Given the description of an element on the screen output the (x, y) to click on. 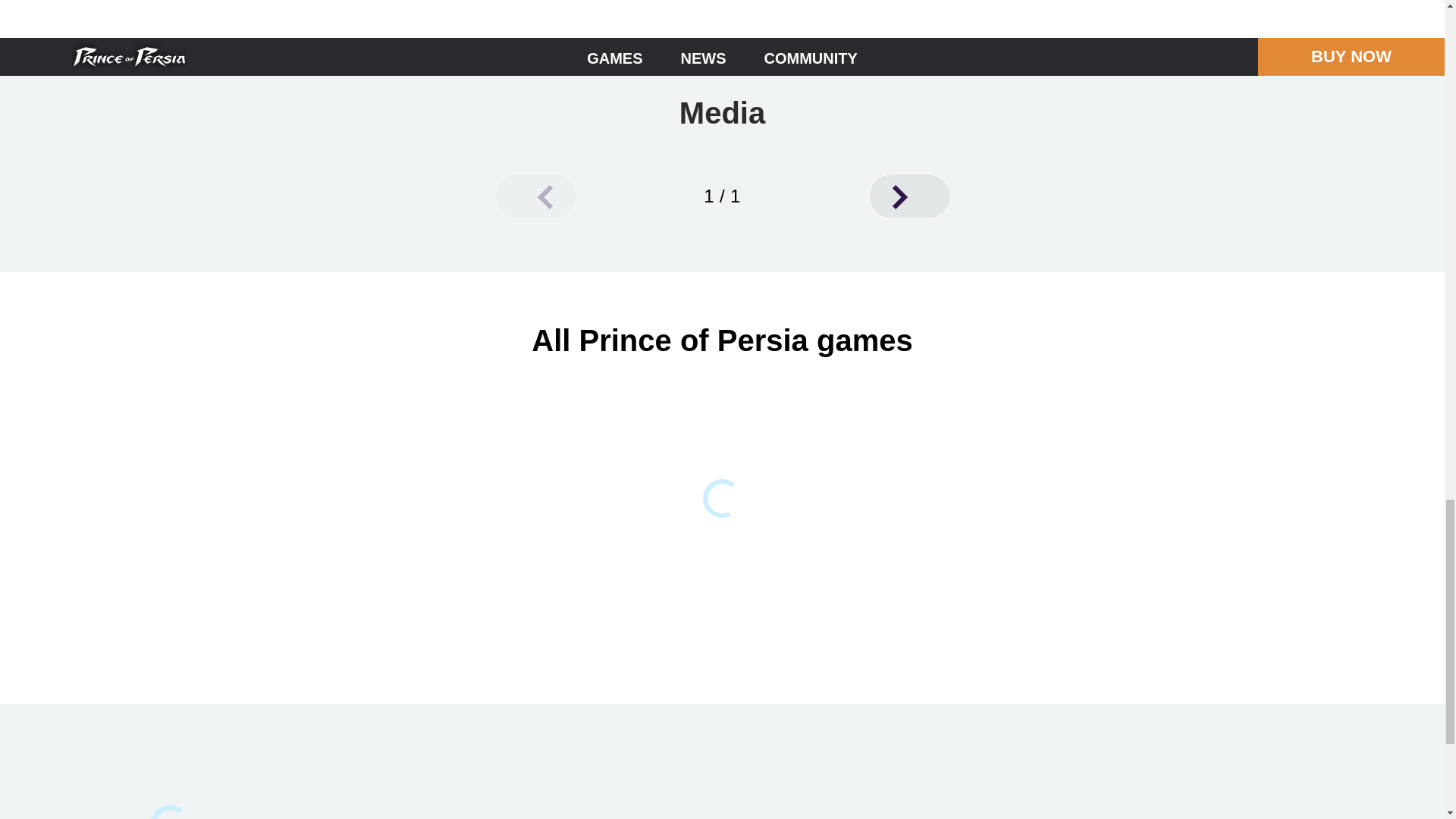
Arrow RightBlack arrow pointing right (898, 197)
Arrow RightBlack arrow pointing right (908, 196)
Arrow LeftBlack arrow pointing left (535, 196)
Arrow LeftBlack arrow pointing left (544, 197)
